Given the description of an element on the screen output the (x, y) to click on. 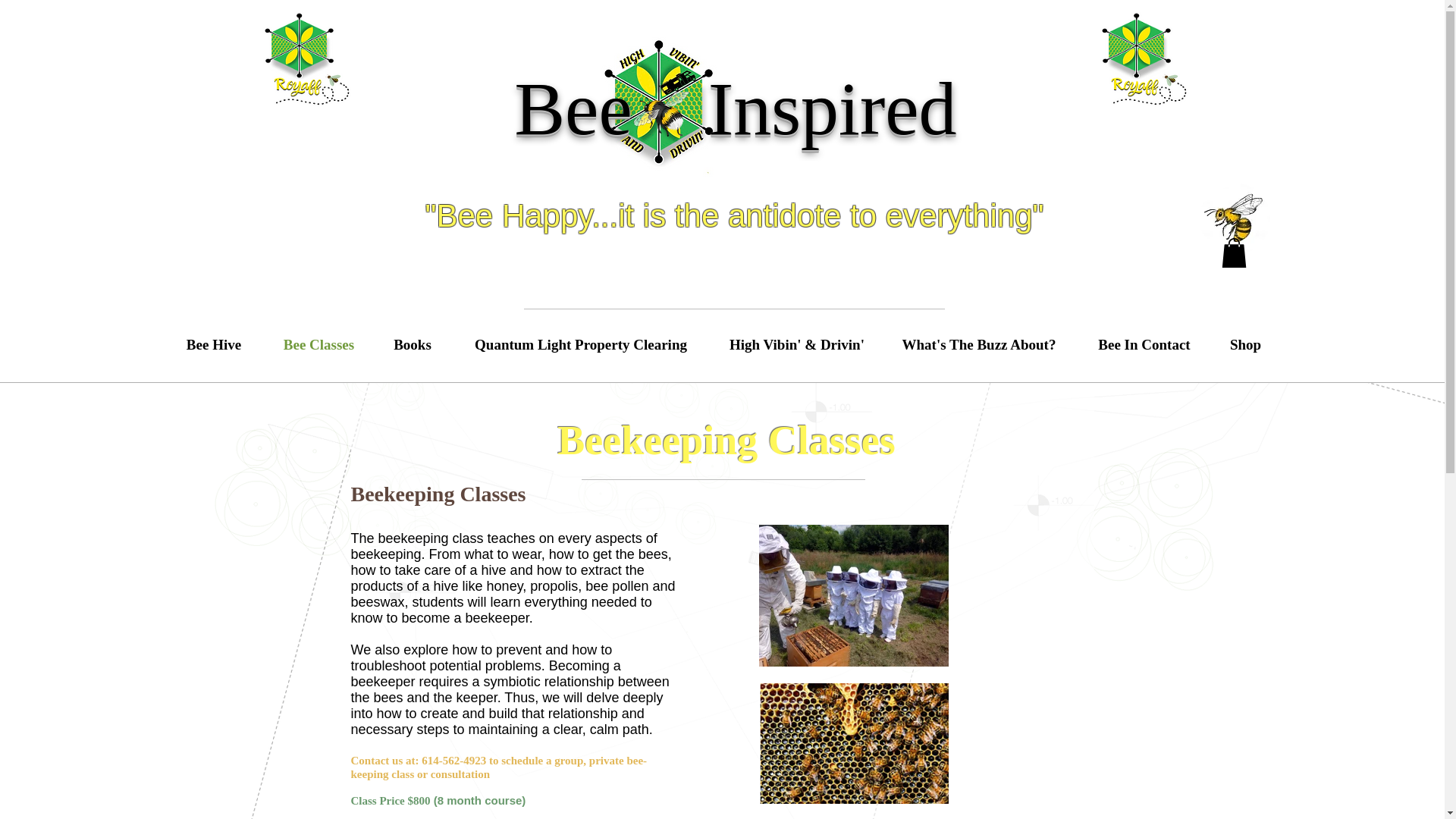
Bee Hive (213, 344)
What's The Buzz About? (977, 344)
Grey Circle (296, 55)
Quantum Light Property Clearing (579, 344)
Books (412, 344)
Bee In Contact (1144, 344)
Shop (1244, 344)
Grey Circle (1133, 55)
Bee Classes (318, 344)
